Given the description of an element on the screen output the (x, y) to click on. 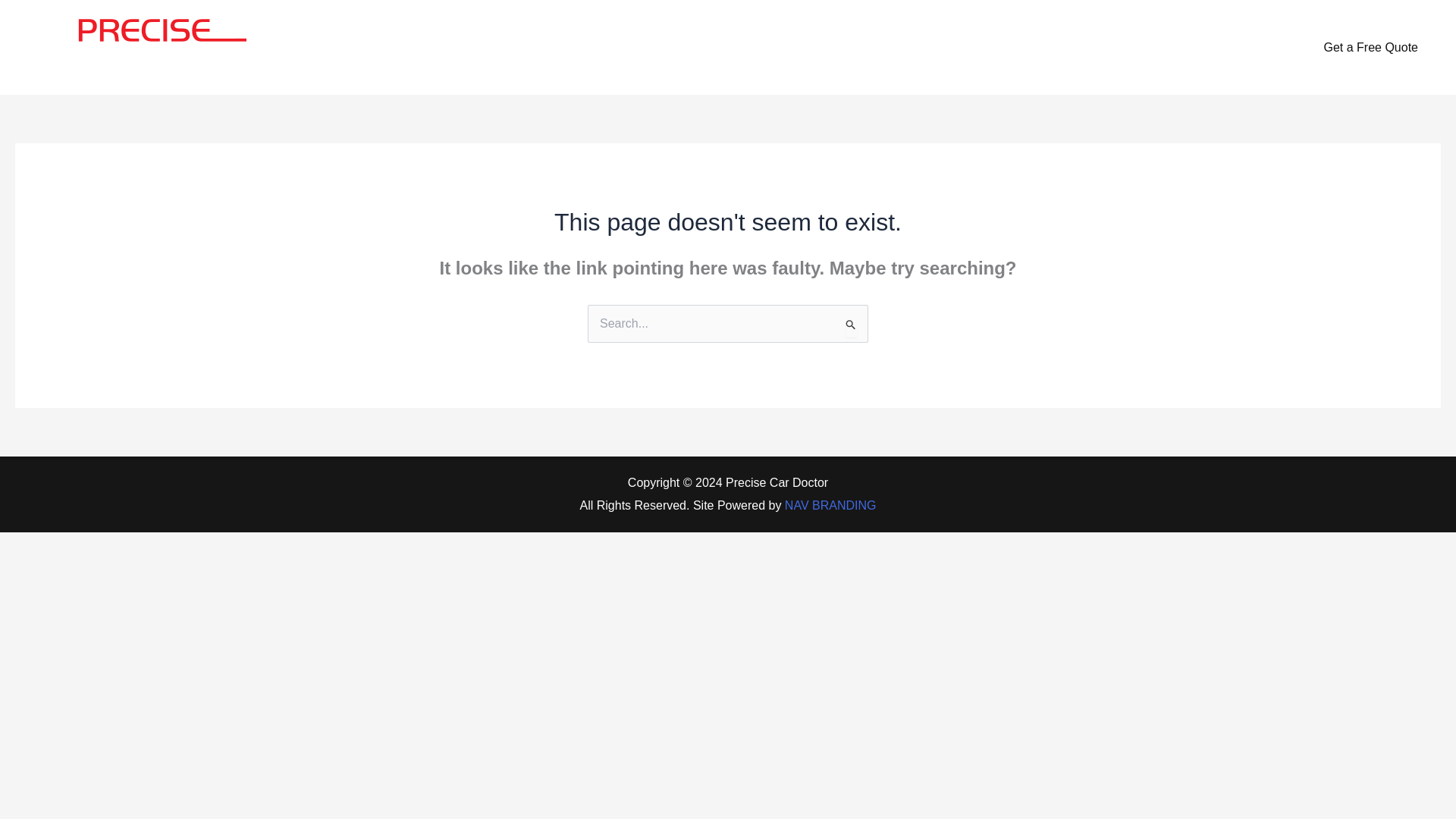
ABOUT US (1110, 46)
HOME (932, 46)
NAV BRANDING (830, 504)
SERVICES (1014, 46)
Get a Free Quote (1370, 47)
CONTACT (1205, 46)
